Given the description of an element on the screen output the (x, y) to click on. 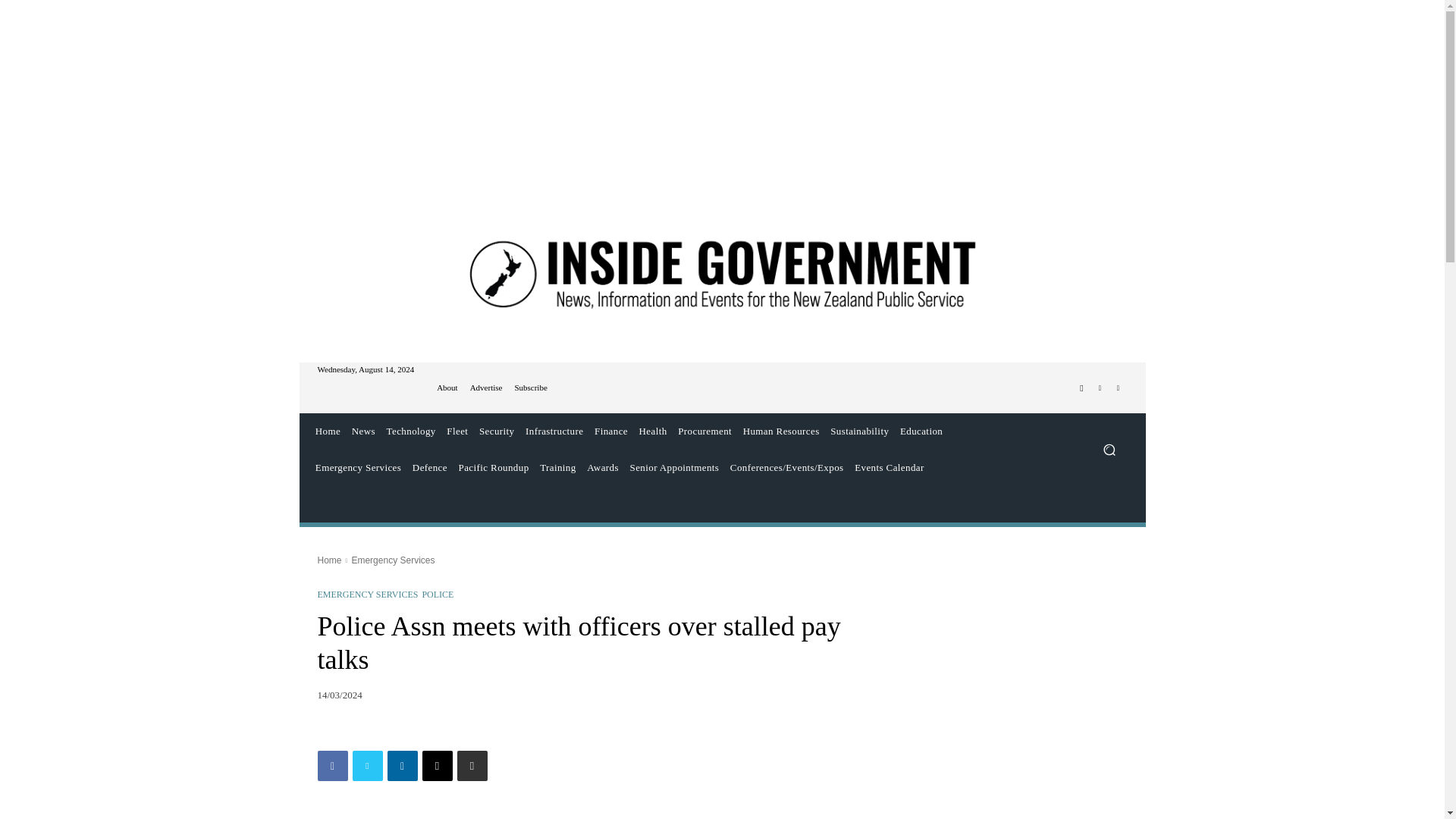
Procurement (704, 431)
Facebook (1080, 388)
Subscribe (530, 388)
Advertise (486, 388)
Twitter (366, 766)
Print (471, 766)
Facebook (332, 766)
News (363, 431)
Twitter (1099, 388)
